Given the description of an element on the screen output the (x, y) to click on. 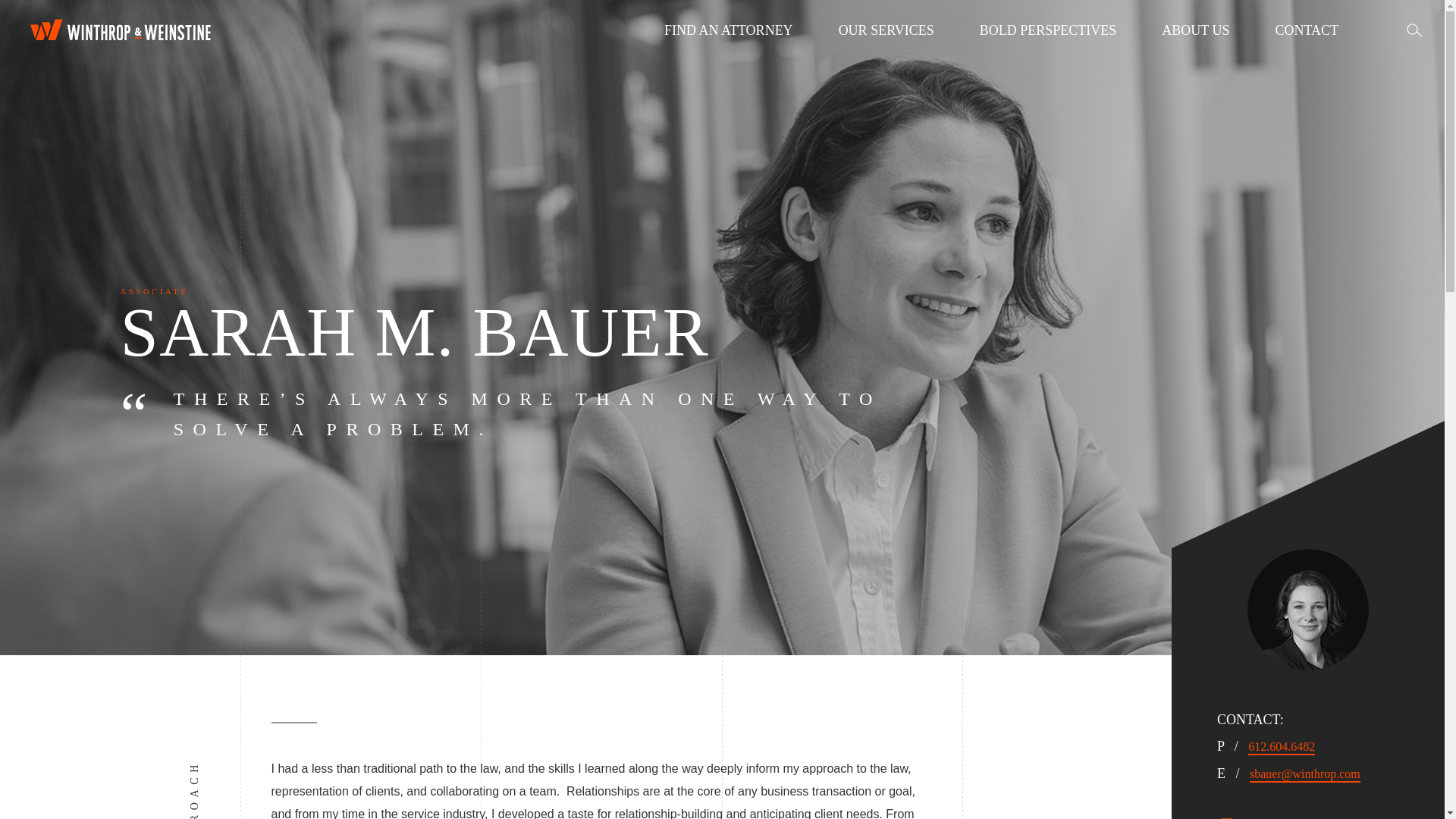
CONTACT (1306, 30)
SEARCH (1414, 29)
Print (1226, 817)
ABOUT US (1195, 30)
OUR SERVICES (885, 30)
FIND AN ATTORNEY (728, 30)
BOLD PERSPECTIVES (1048, 30)
Contact Card (1260, 817)
Bauer, Sarah M. (1307, 609)
612.604.6482 (1280, 746)
